Given the description of an element on the screen output the (x, y) to click on. 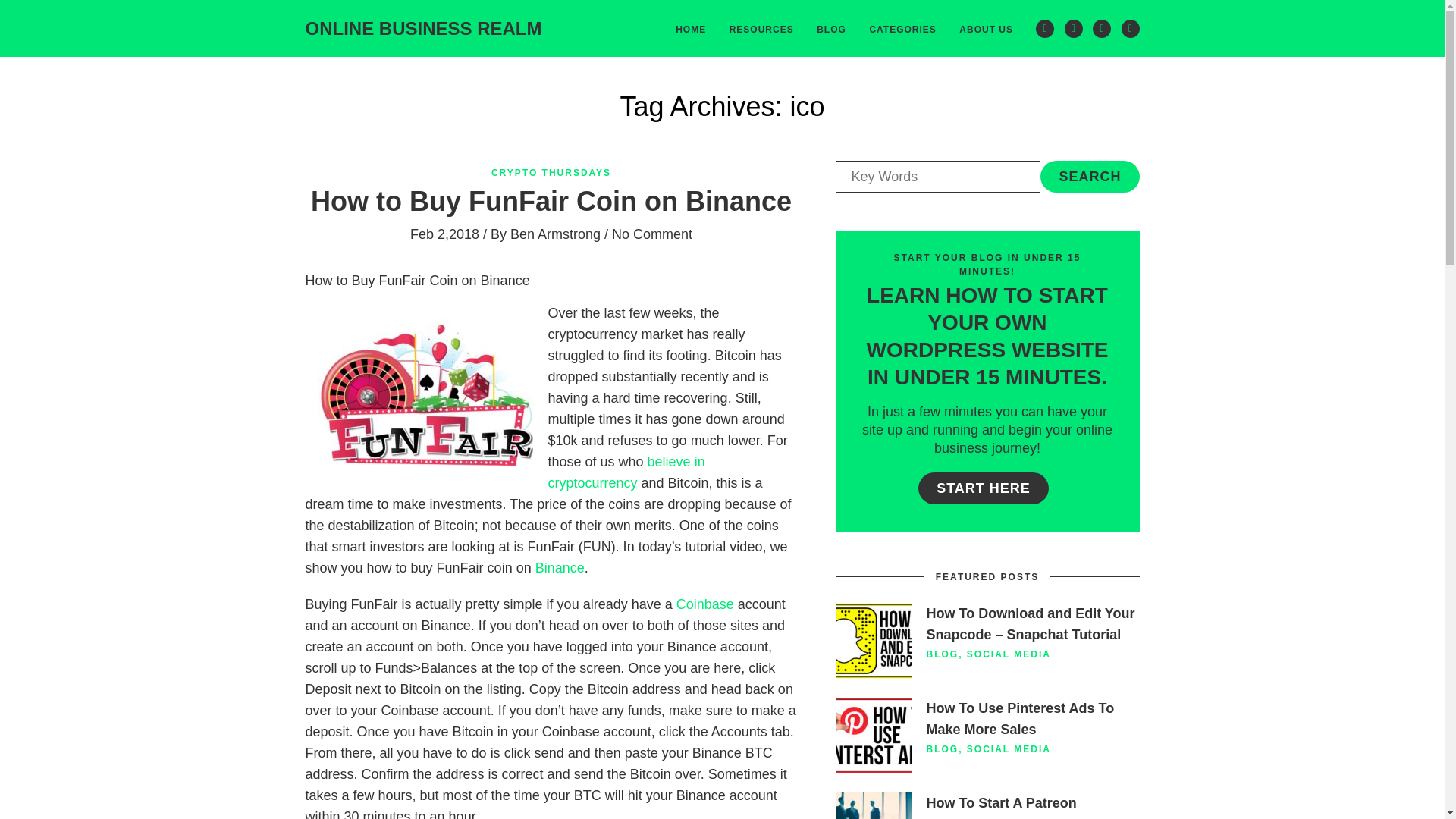
Ben Armstrong (555, 233)
CATEGORIES (902, 28)
Search (1089, 176)
BLOG (831, 28)
CRYPTO THURSDAYS (550, 172)
believe in cryptocurrency (625, 472)
BLOG (942, 654)
How To Use Pinterest Ads To Make More Sales (1020, 719)
Search (1089, 176)
HOME (690, 28)
